Given the description of an element on the screen output the (x, y) to click on. 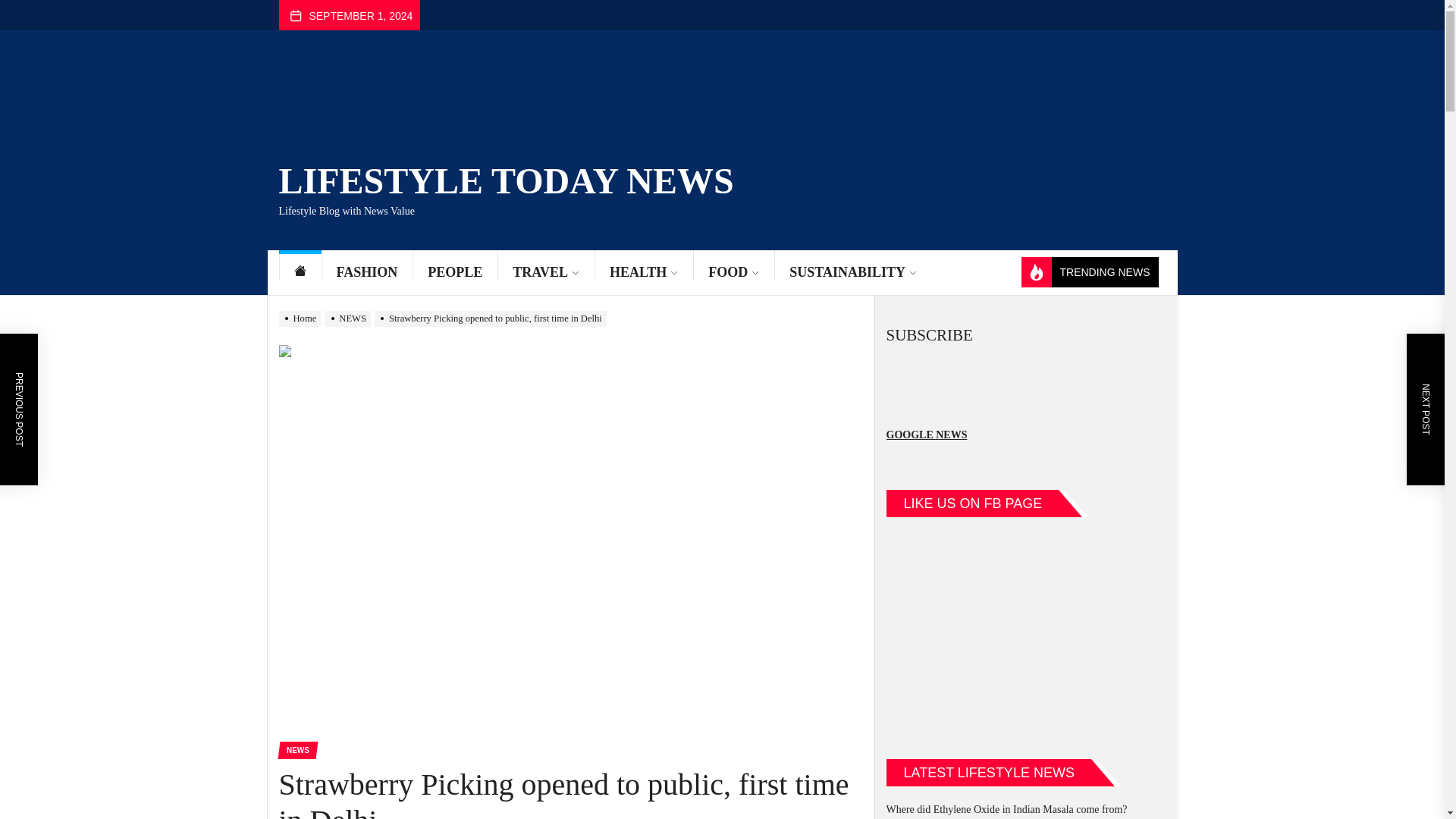
TRAVEL (545, 272)
TRENDING NEWS (1088, 272)
HEALTH (643, 272)
SUSTAINABILITY (852, 272)
PEOPLE (454, 272)
LIFESTYLE TODAY NEWS (506, 177)
FASHION (367, 272)
Home (300, 272)
FOOD (733, 272)
